Given the description of an element on the screen output the (x, y) to click on. 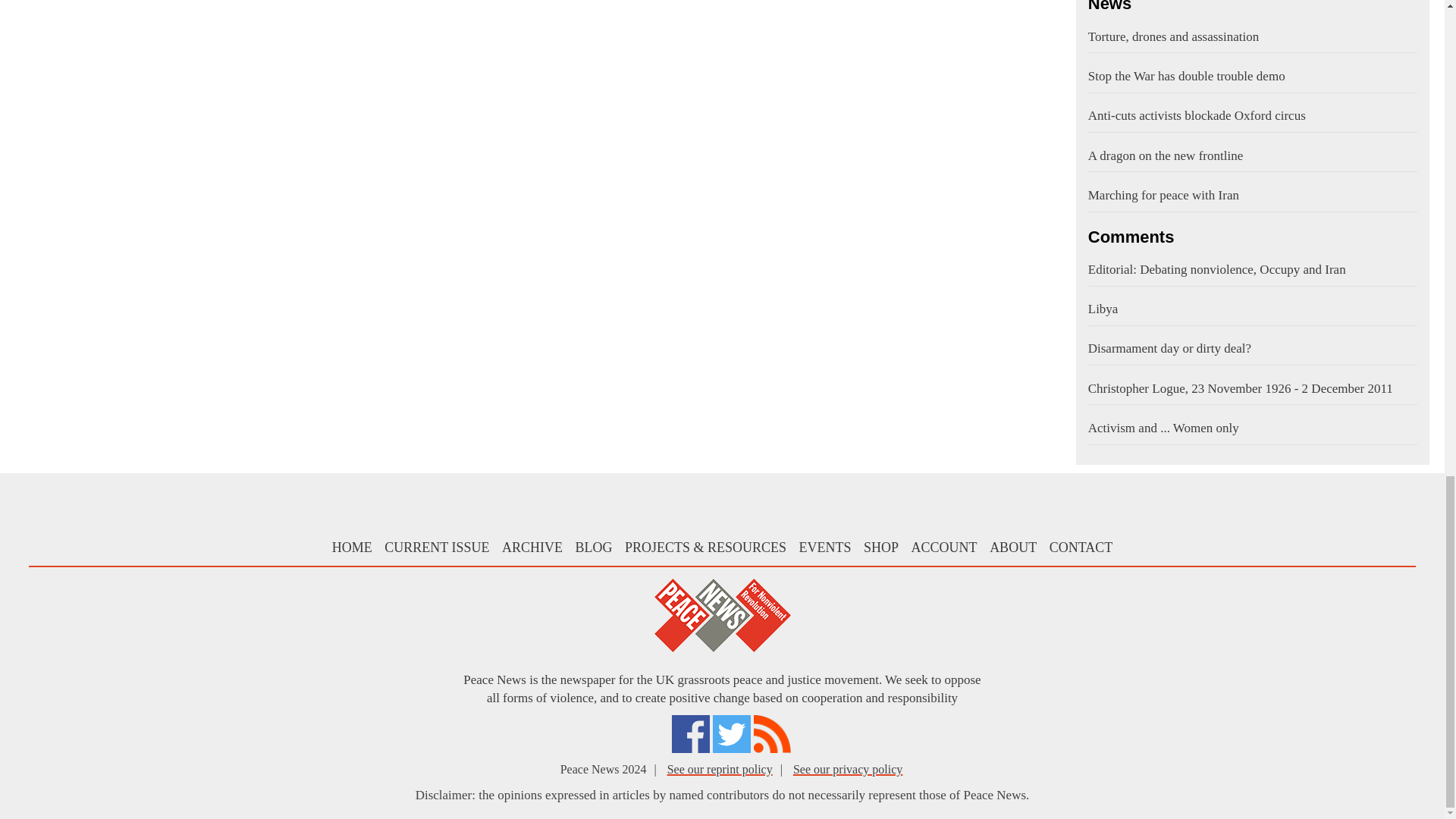
Our work (705, 547)
shop (880, 547)
About (1013, 547)
Issues (436, 547)
